Given the description of an element on the screen output the (x, y) to click on. 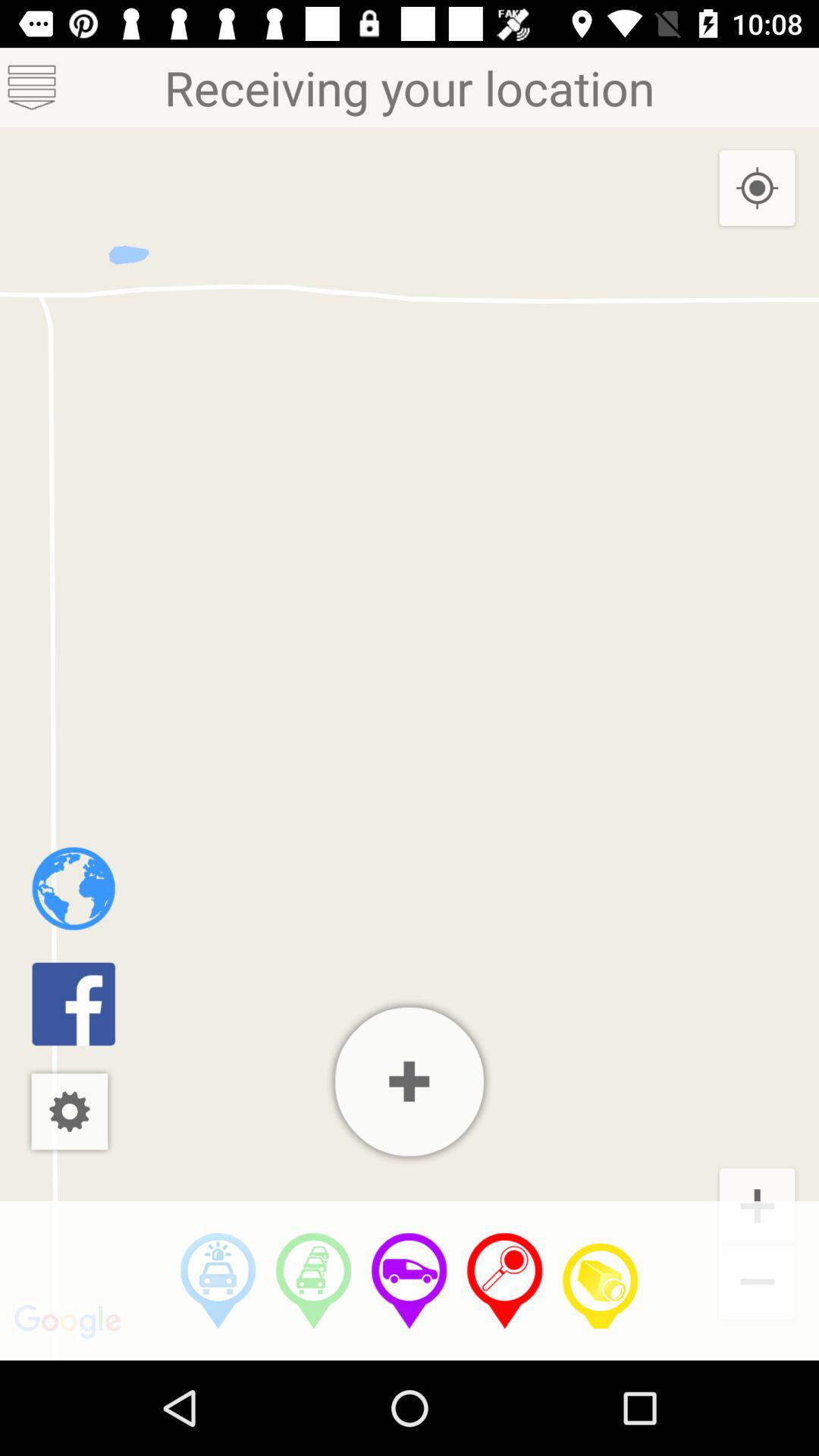
services near here (218, 1280)
